Given the description of an element on the screen output the (x, y) to click on. 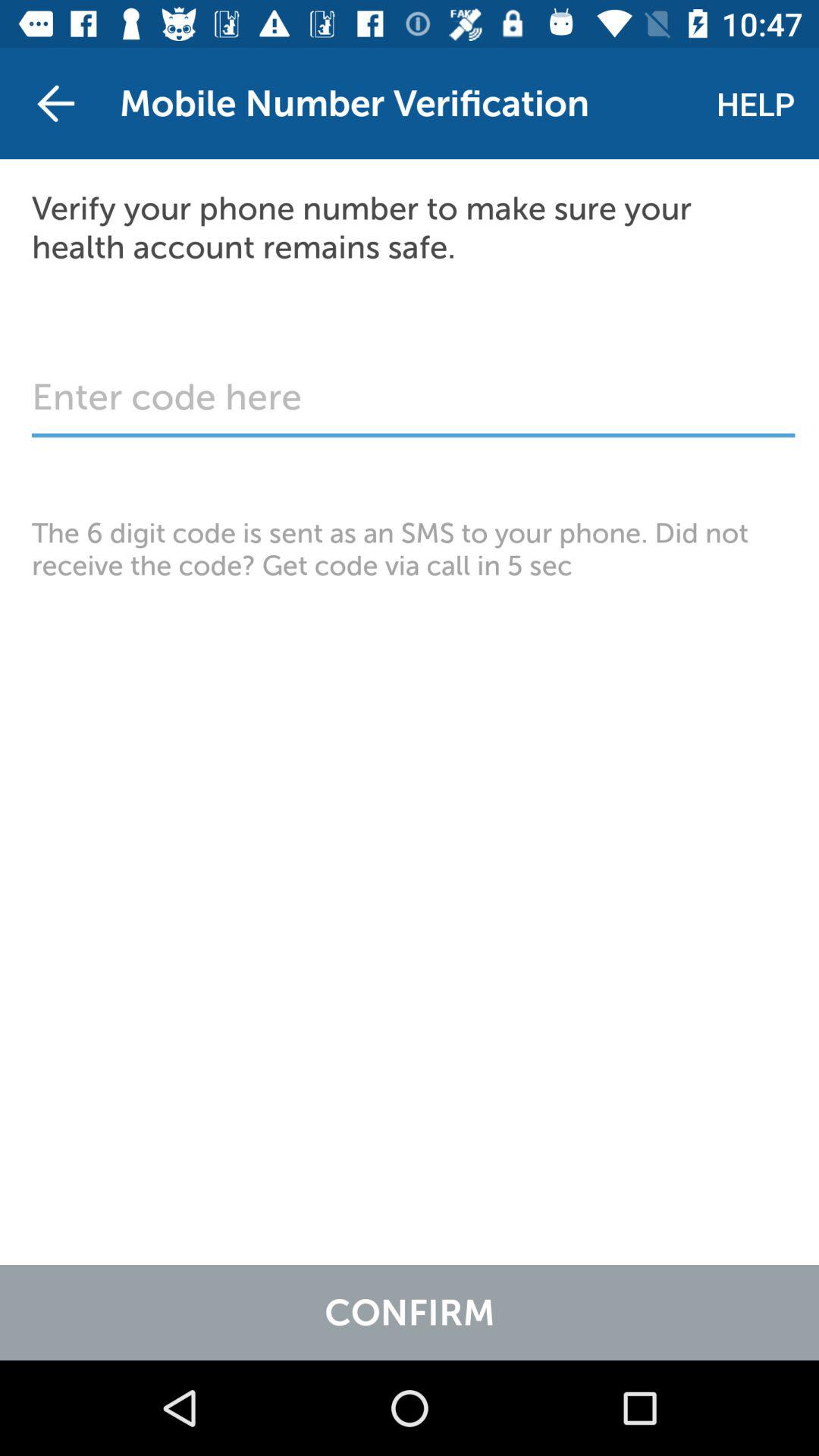
flip to the confirm item (409, 1312)
